Given the description of an element on the screen output the (x, y) to click on. 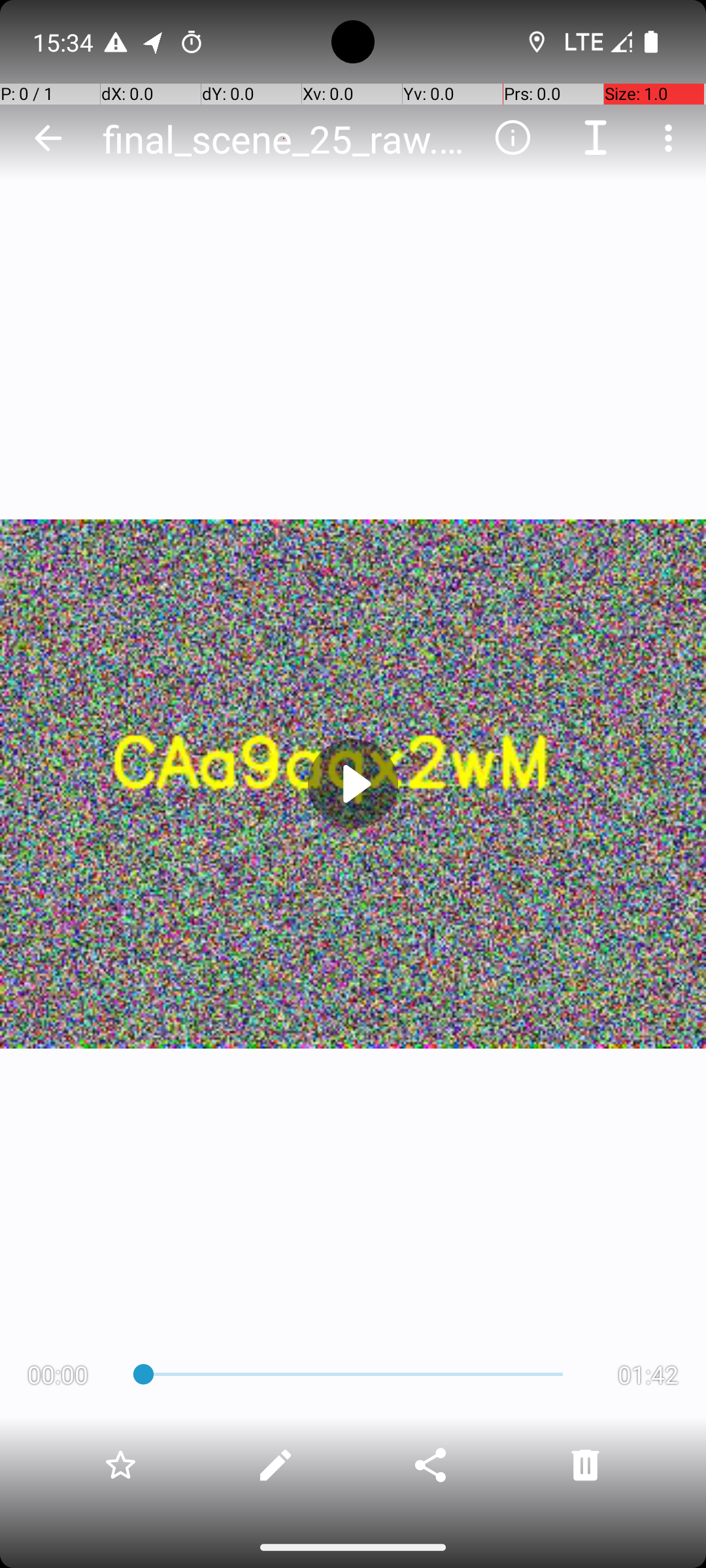
final_scene_25_raw.mp4 Element type: android.widget.TextView (283, 138)
Properties Element type: android.widget.Button (512, 137)
Rename Element type: android.widget.Button (595, 137)
Toggle favorite Element type: android.widget.ImageView (120, 1464)
00:00 Element type: android.widget.TextView (57, 1374)
01:42 Element type: android.widget.TextView (648, 1374)
OpenTracks notification: Distance: 8.20 mi Element type: android.widget.ImageView (153, 41)
